Given the description of an element on the screen output the (x, y) to click on. 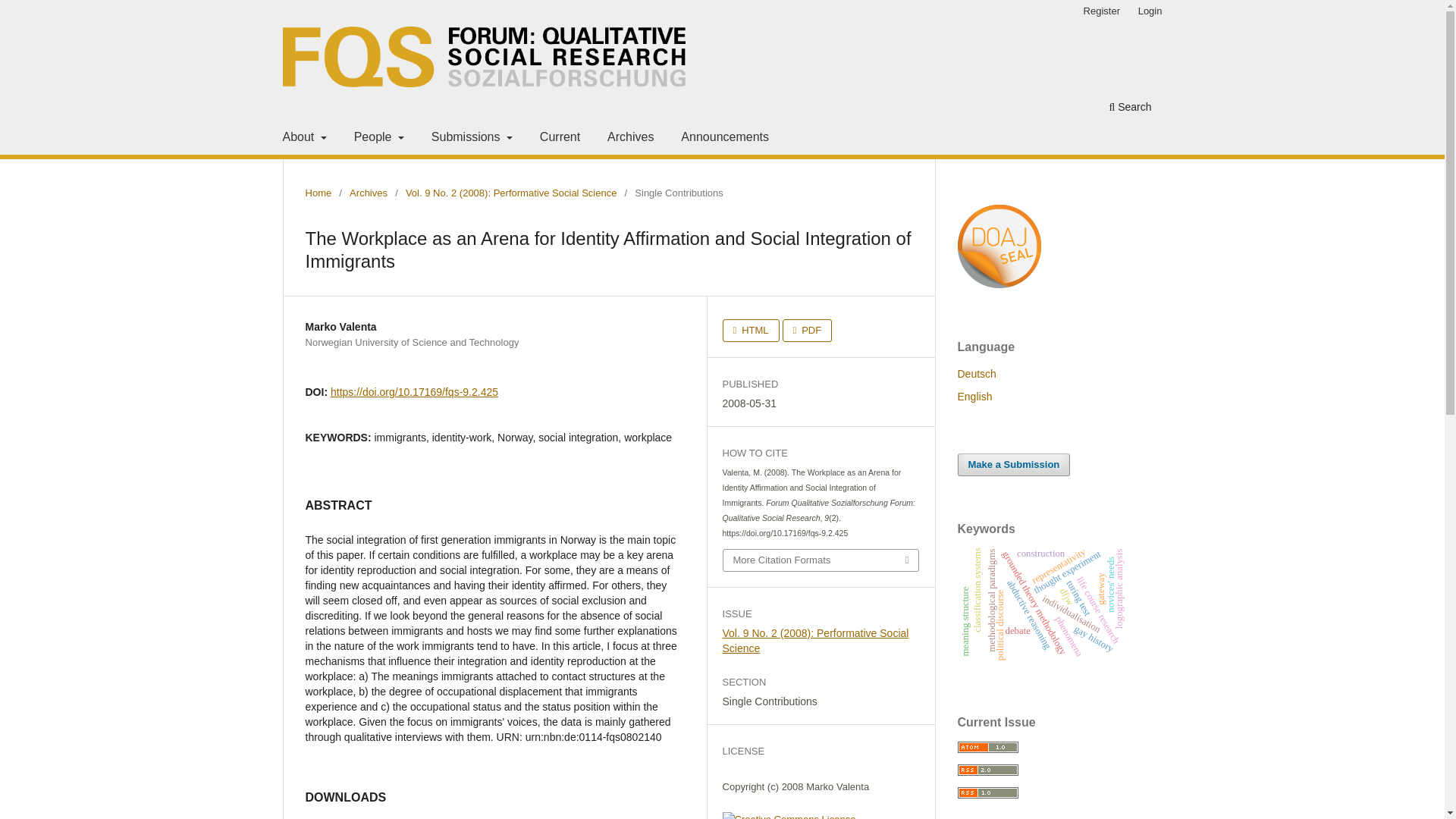
Login (1150, 11)
Announcements (724, 139)
Register (1100, 11)
Home (317, 192)
More Citation Formats (820, 559)
Archives (630, 139)
People (378, 139)
Current (560, 139)
Search (1129, 108)
